Given the description of an element on the screen output the (x, y) to click on. 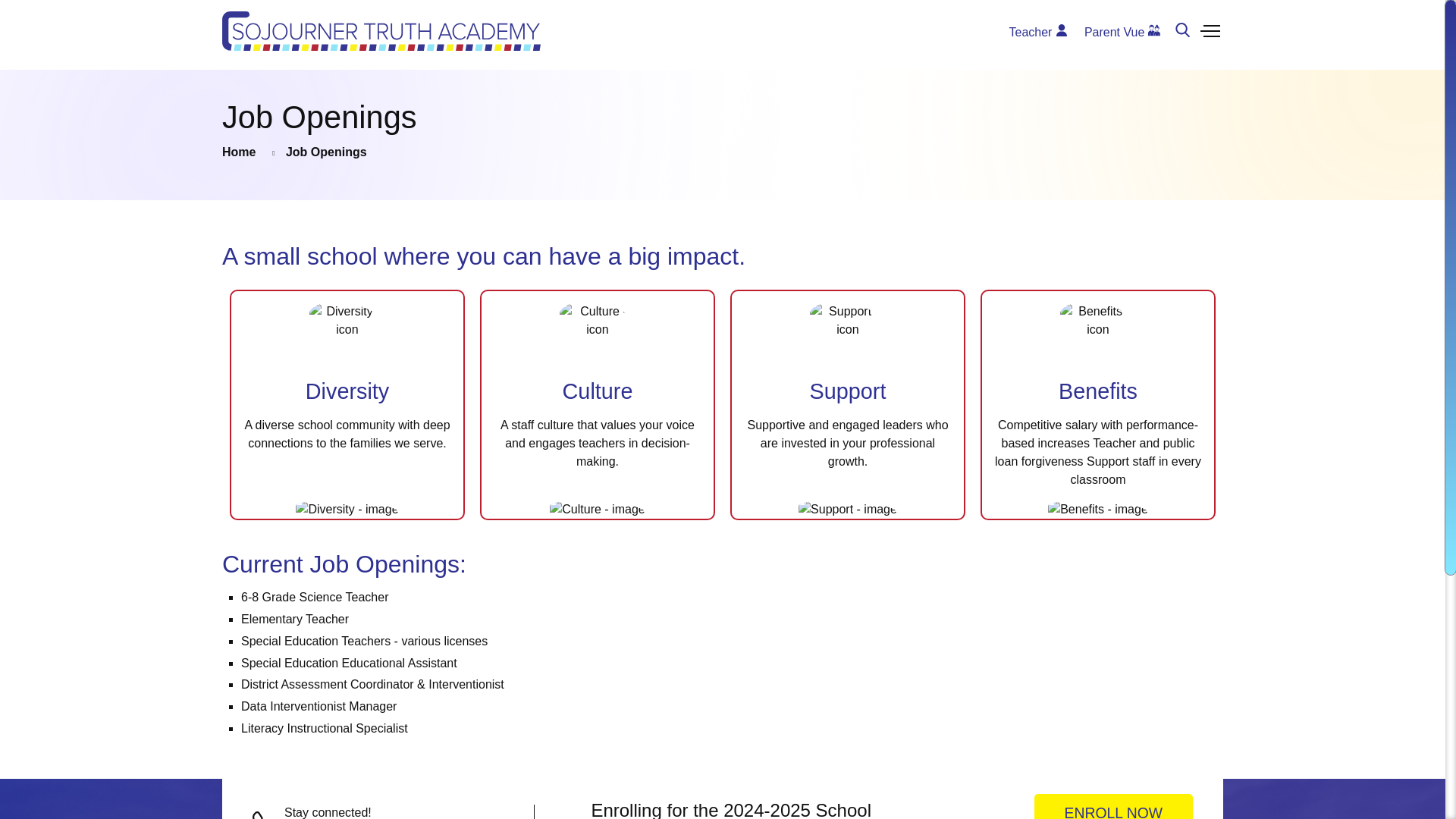
Parent Vue (1122, 31)
Sojourner Truth Academy (381, 31)
Teacher (1038, 31)
Home (246, 152)
Job Openings (1112, 806)
241704501743045 (328, 152)
